Given the description of an element on the screen output the (x, y) to click on. 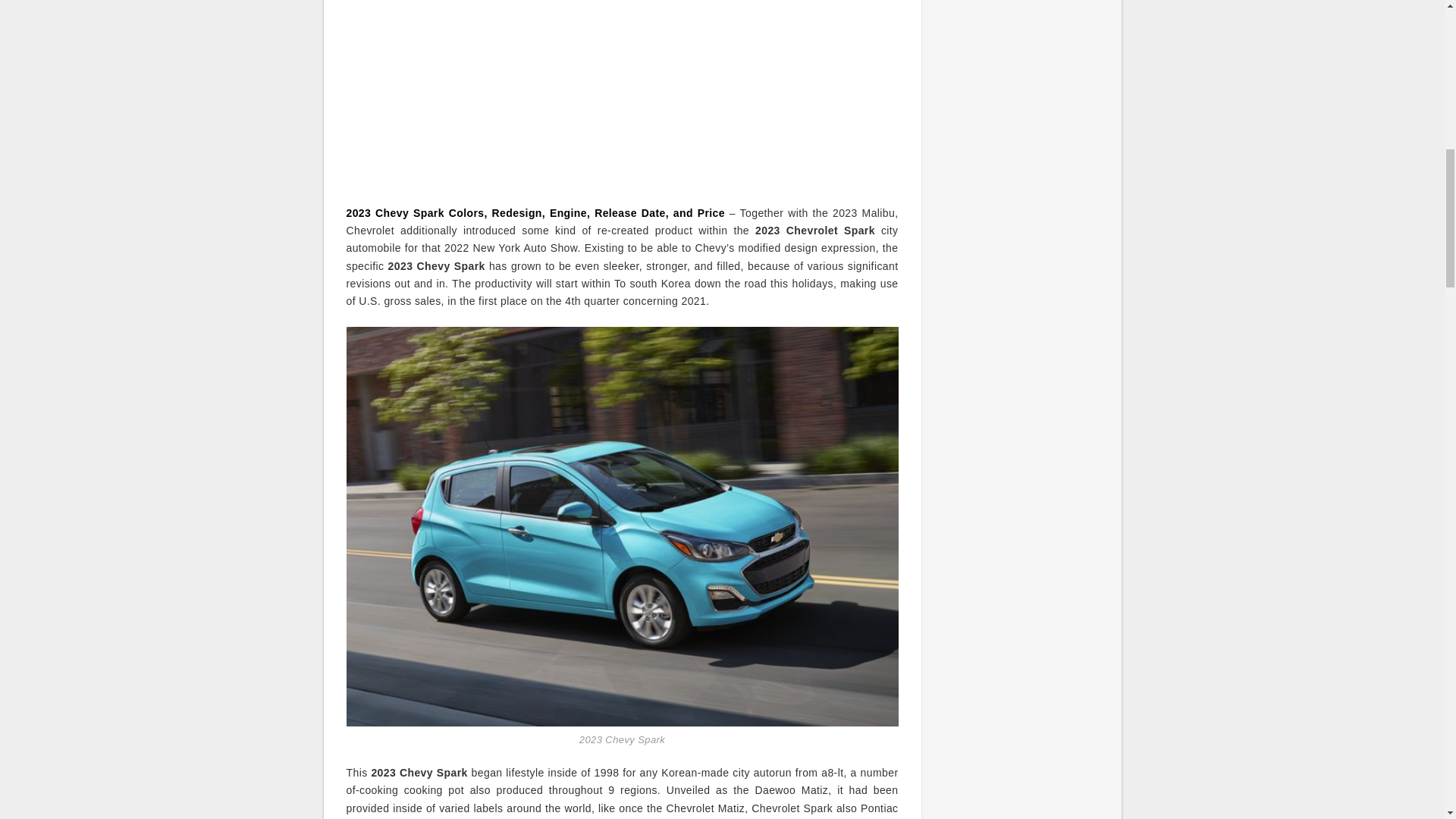
Advertisement (622, 94)
